Given the description of an element on the screen output the (x, y) to click on. 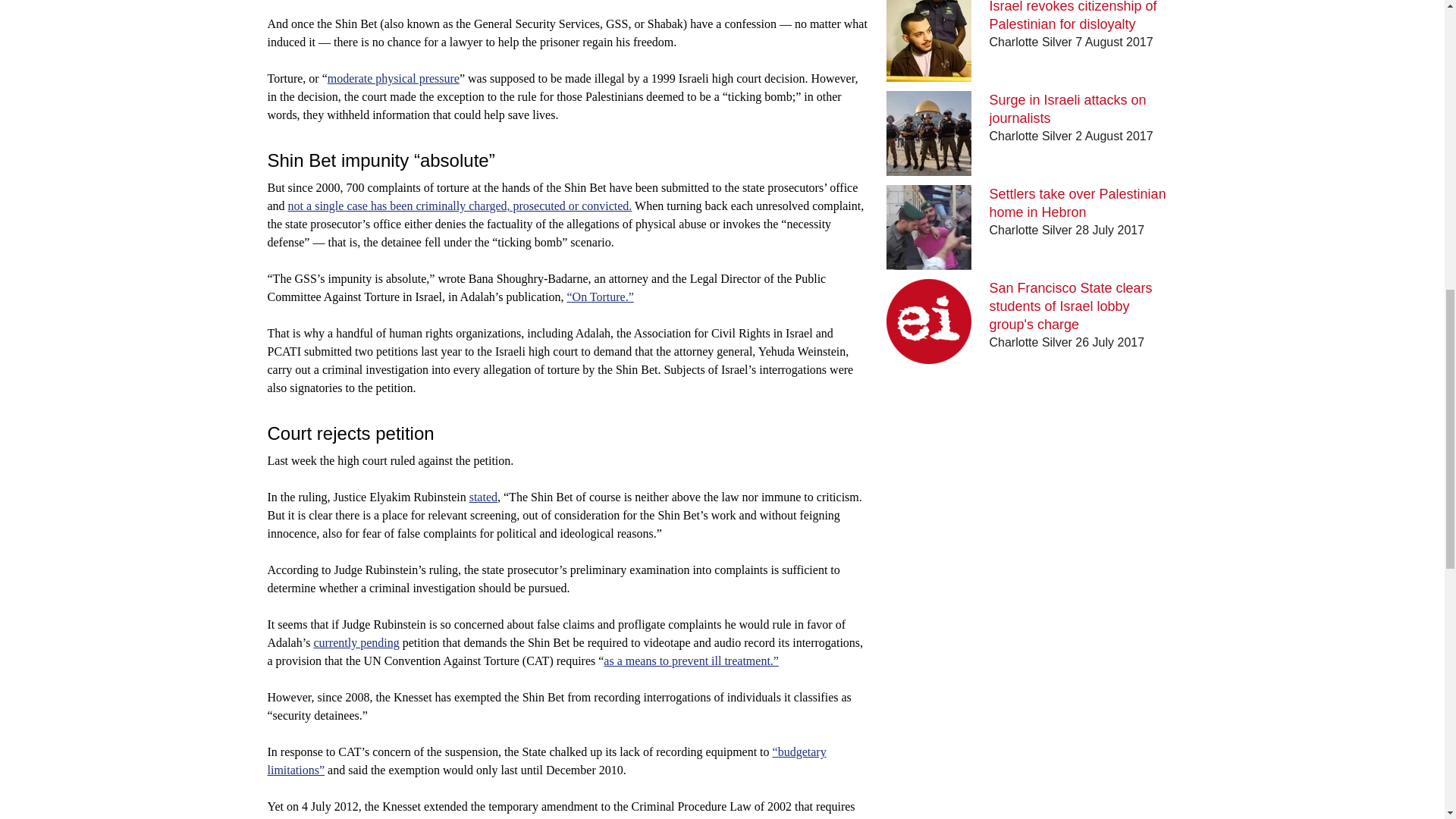
currently pending (355, 642)
moderate physical pressure (393, 78)
Israel revokes citizenship of Palestinian for disloyalty (1073, 15)
stated (482, 496)
